Given the description of an element on the screen output the (x, y) to click on. 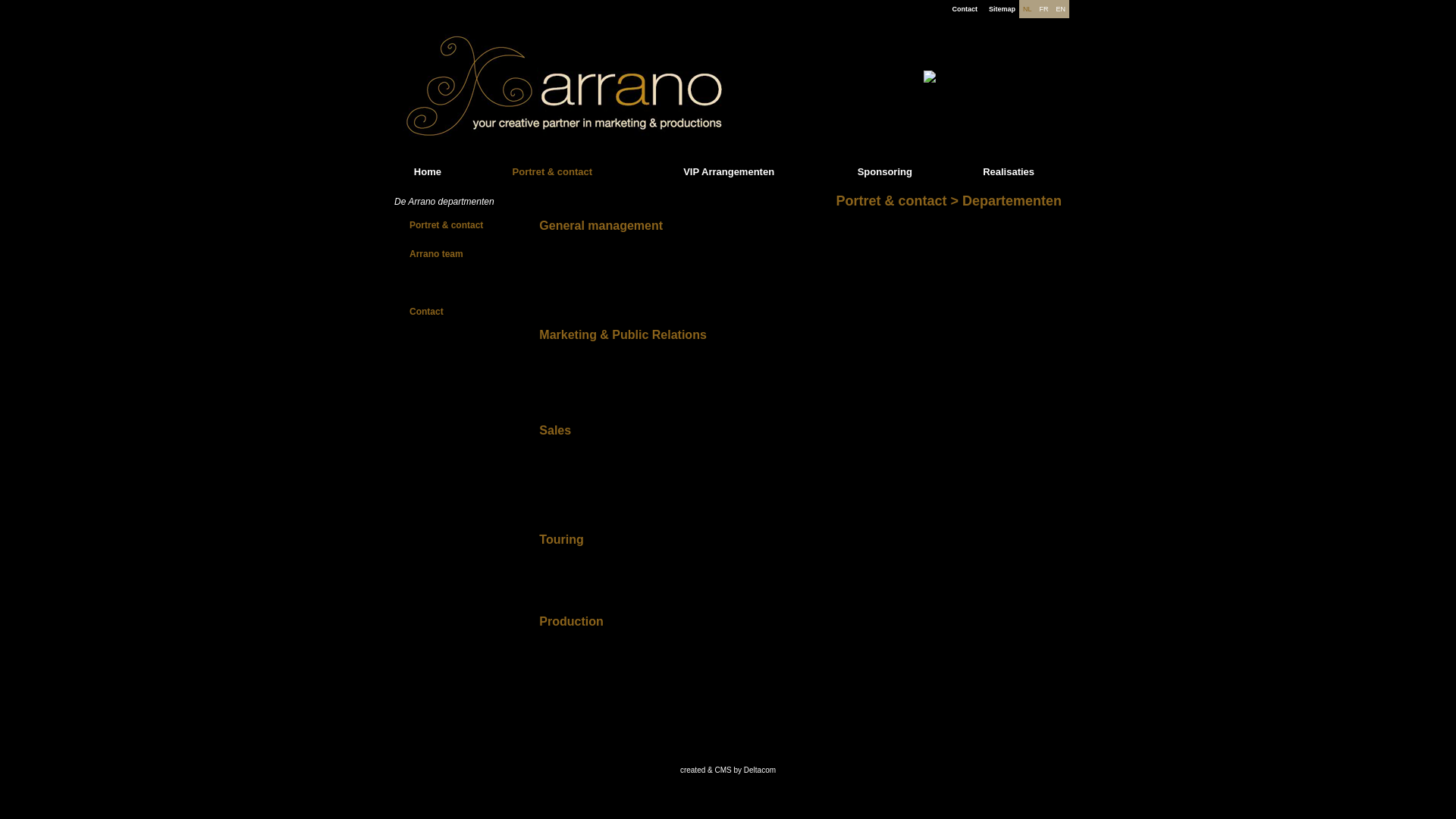
Realisaties Element type: text (1008, 171)
Arrano team Element type: text (436, 253)
Portret & contact Element type: text (552, 171)
Home Element type: text (427, 171)
NL Element type: text (1027, 8)
Contact Element type: text (426, 311)
Departementen Element type: text (442, 282)
Fuerza Bruta Element type: text (957, 84)
Sitemap Element type: text (1001, 8)
FR Element type: text (1043, 8)
Portret & contact Element type: text (446, 224)
EN Element type: text (1060, 8)
Sponsoring Element type: text (884, 171)
VIP Arrangementen Element type: text (728, 171)
created & CMS by Deltacom Element type: text (727, 769)
Contact Element type: text (964, 8)
